Given the description of an element on the screen output the (x, y) to click on. 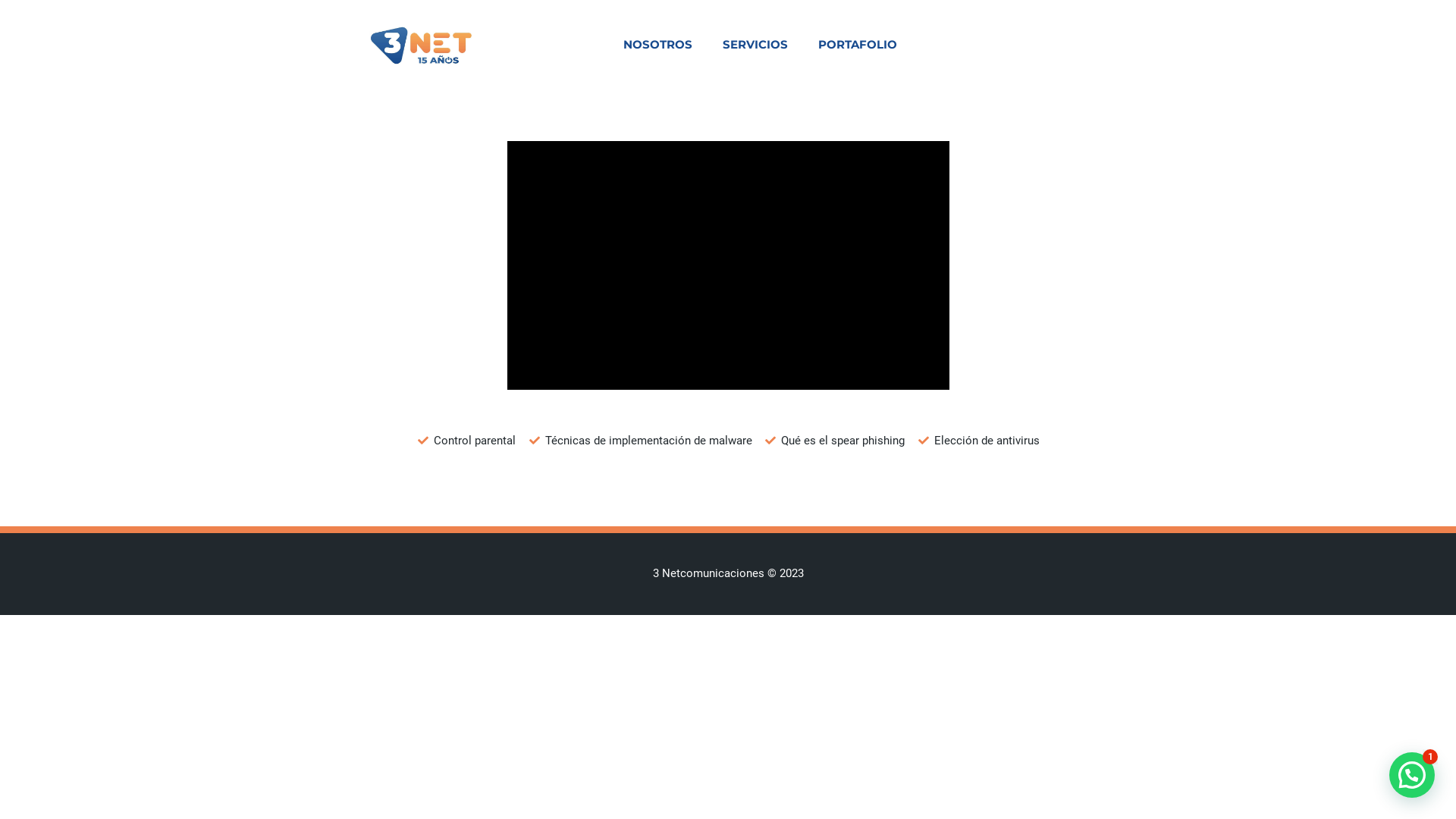
NOSOTROS Element type: text (657, 44)
SERVICIOS Element type: text (755, 44)
PORTAFOLIO Element type: text (857, 44)
Control parental Element type: text (466, 440)
